Given the description of an element on the screen output the (x, y) to click on. 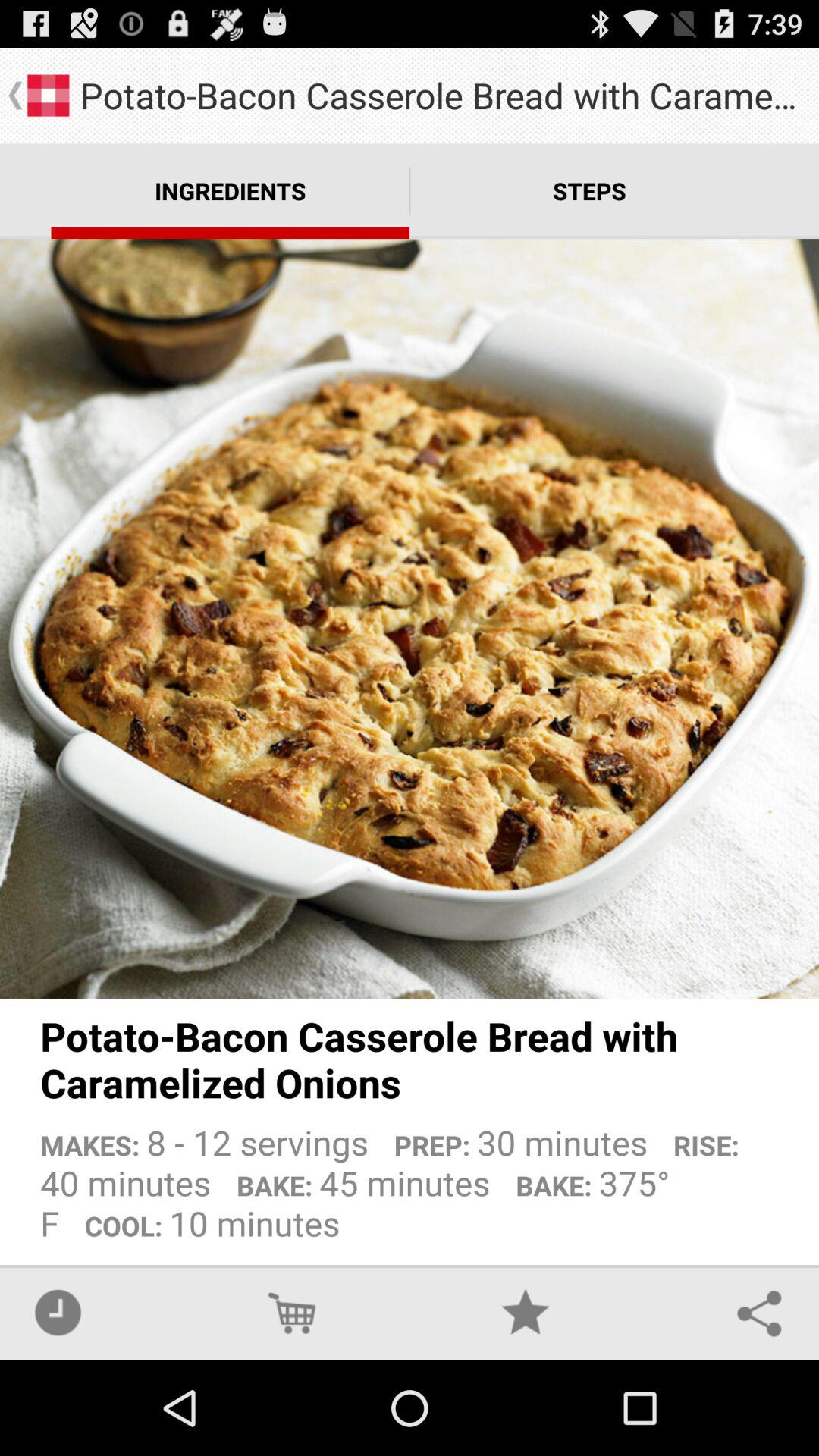
turn off icon at the bottom right corner (759, 1312)
